Given the description of an element on the screen output the (x, y) to click on. 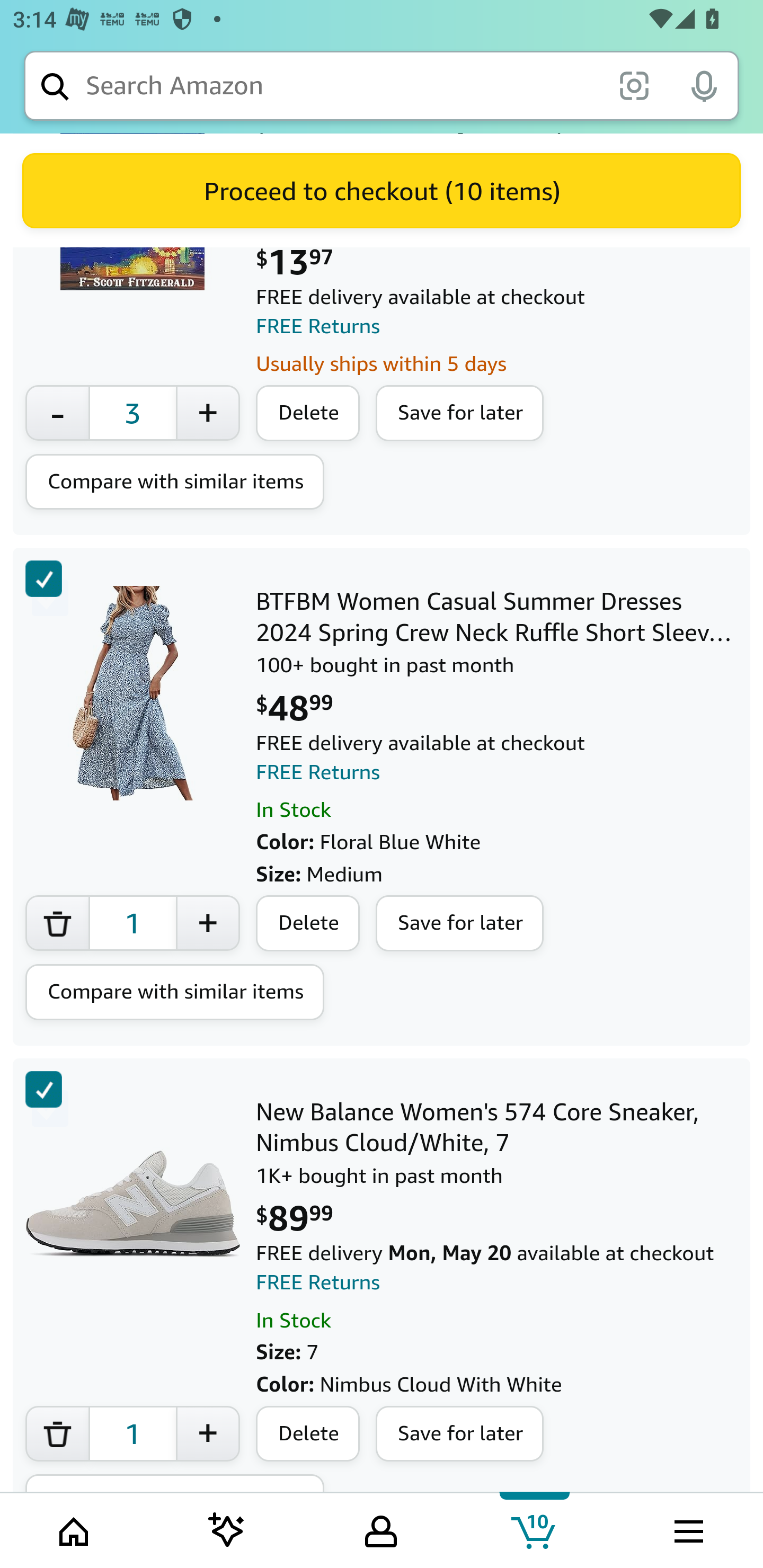
scan it (633, 85)
Proceed to checkout (10 items) (381, 190)
FREE Returns (318, 326)
Delete (308, 414)
Save for later (459, 414)
3 (132, 413)
Compare with similar items (174, 482)
FREE Returns (318, 772)
Delete (308, 924)
Save for later (459, 924)
1 (132, 924)
Compare with similar items (174, 992)
FREE Returns (318, 1283)
Delete (308, 1434)
Save for later (459, 1434)
1 (132, 1434)
Home Tab 1 of 5 (75, 1529)
Inspire feed Tab 2 of 5 (227, 1529)
Your Amazon.com Tab 3 of 5 (380, 1529)
Cart 10 items Tab 4 of 5 10 (534, 1529)
Browse menu Tab 5 of 5 (687, 1529)
